Given the description of an element on the screen output the (x, y) to click on. 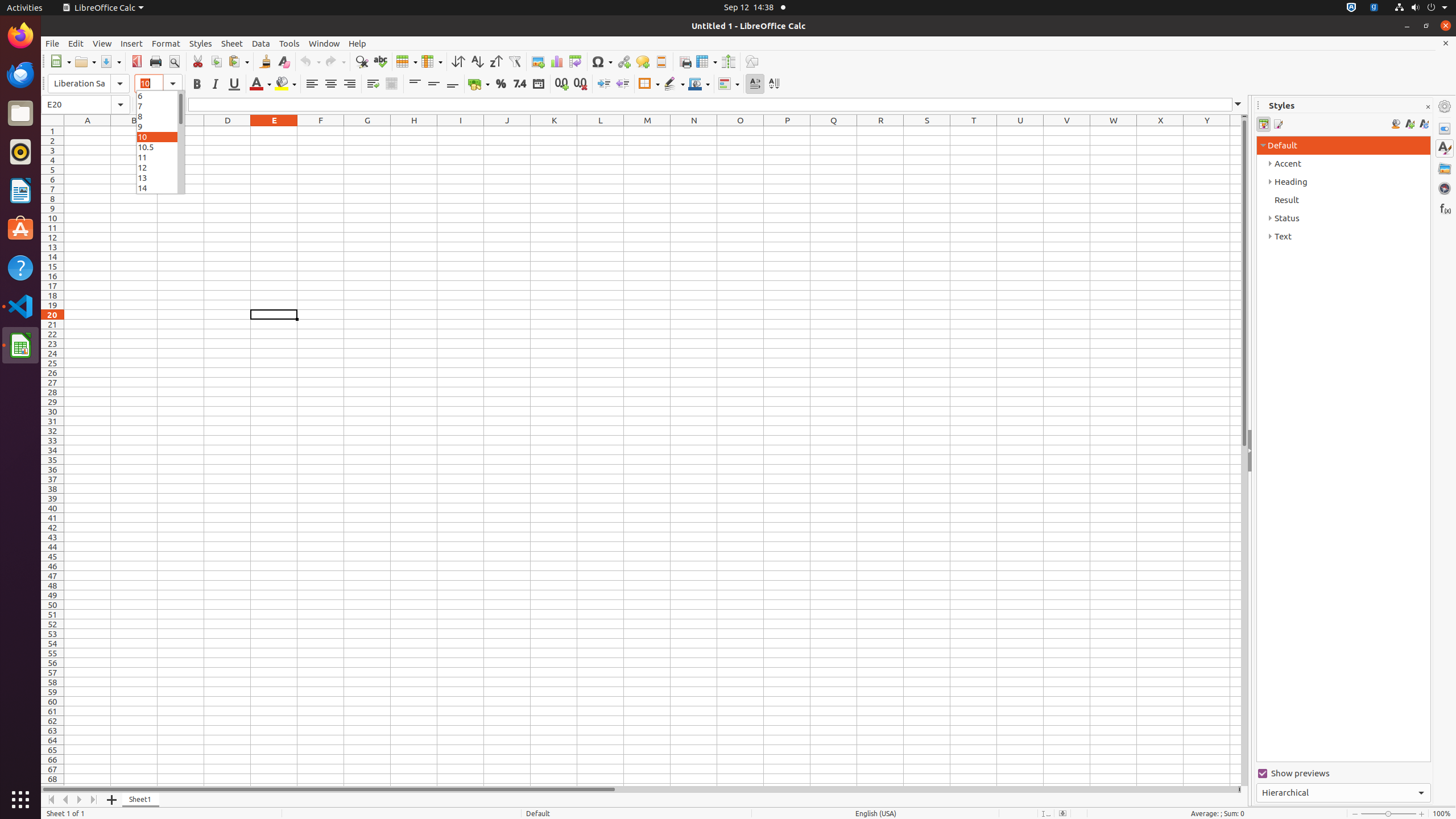
7 Element type: list-item (160, 105)
Image Element type: push-button (537, 61)
New Style from Selection Element type: push-button (1409, 123)
G1 Element type: table-cell (367, 130)
Delete Decimal Place Element type: push-button (580, 83)
